Given the description of an element on the screen output the (x, y) to click on. 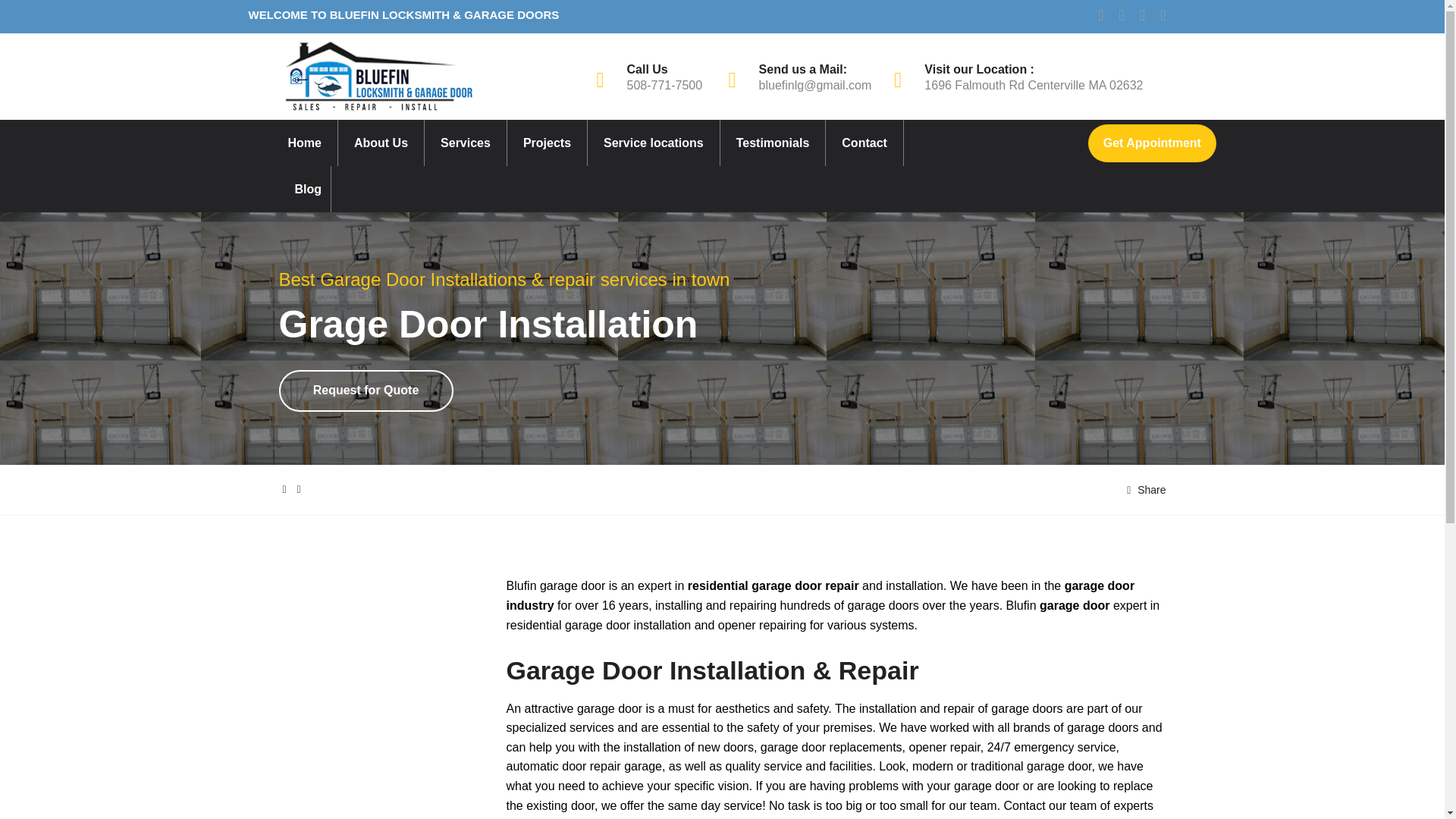
Testimonials (772, 142)
Get Appointment (1151, 143)
Request for Quote (365, 390)
Service locations (653, 142)
Blog (307, 189)
Home (304, 142)
About Us (380, 142)
Services (464, 142)
Contact (864, 142)
Projects (546, 142)
